Given the description of an element on the screen output the (x, y) to click on. 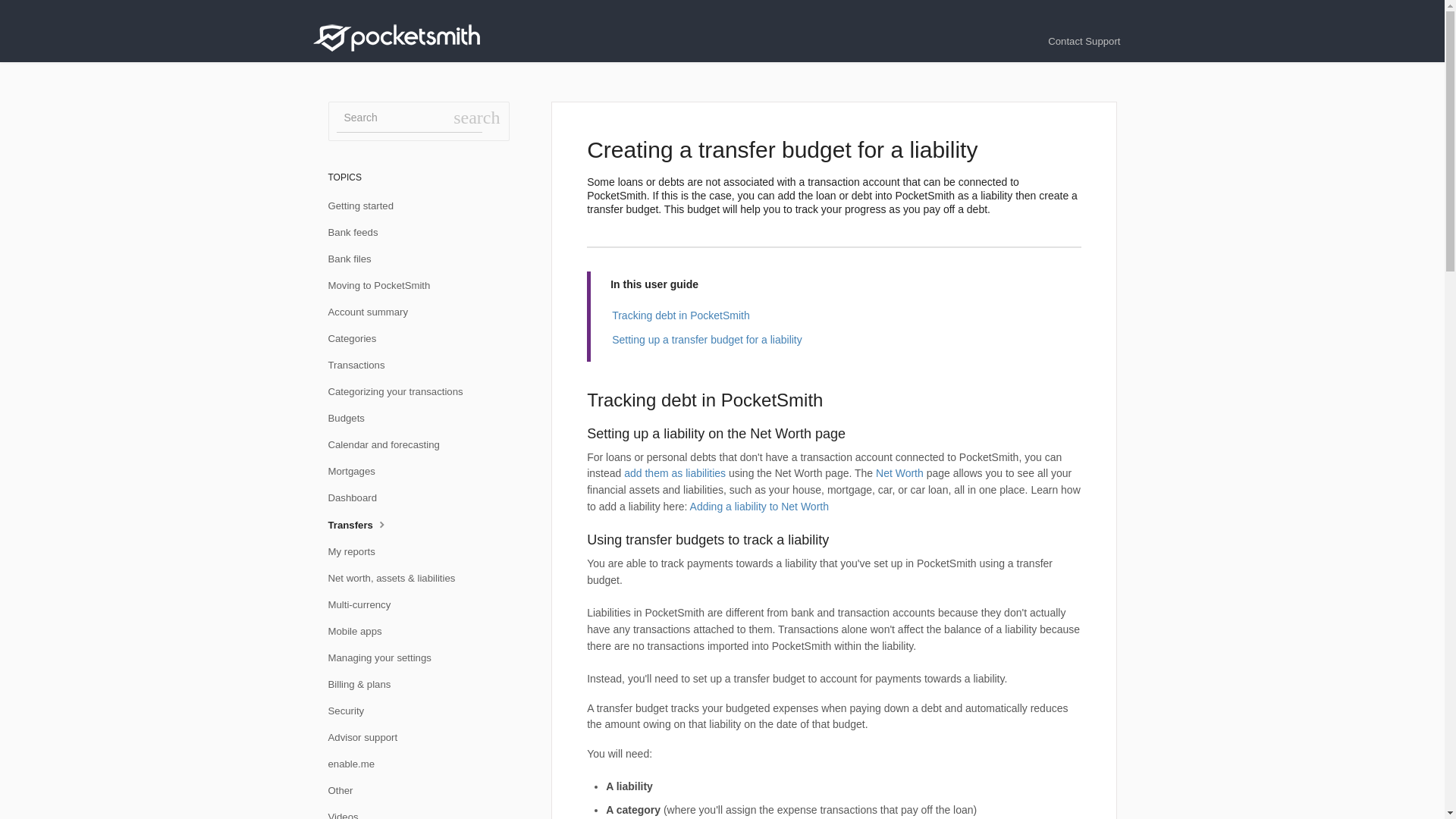
Toggle Search (475, 117)
Advisor support (368, 737)
Security (351, 711)
Transactions (361, 364)
Setting up a transfer budget for a liability (706, 339)
Account summary (373, 312)
Getting started (365, 206)
Categorizing your transactions (400, 392)
Categories (357, 338)
Tracking debt in PocketSmith (680, 315)
My reports (356, 551)
Bank files (354, 259)
Dashboard (357, 498)
Mortgages (356, 471)
Transfers (363, 524)
